Given the description of an element on the screen output the (x, y) to click on. 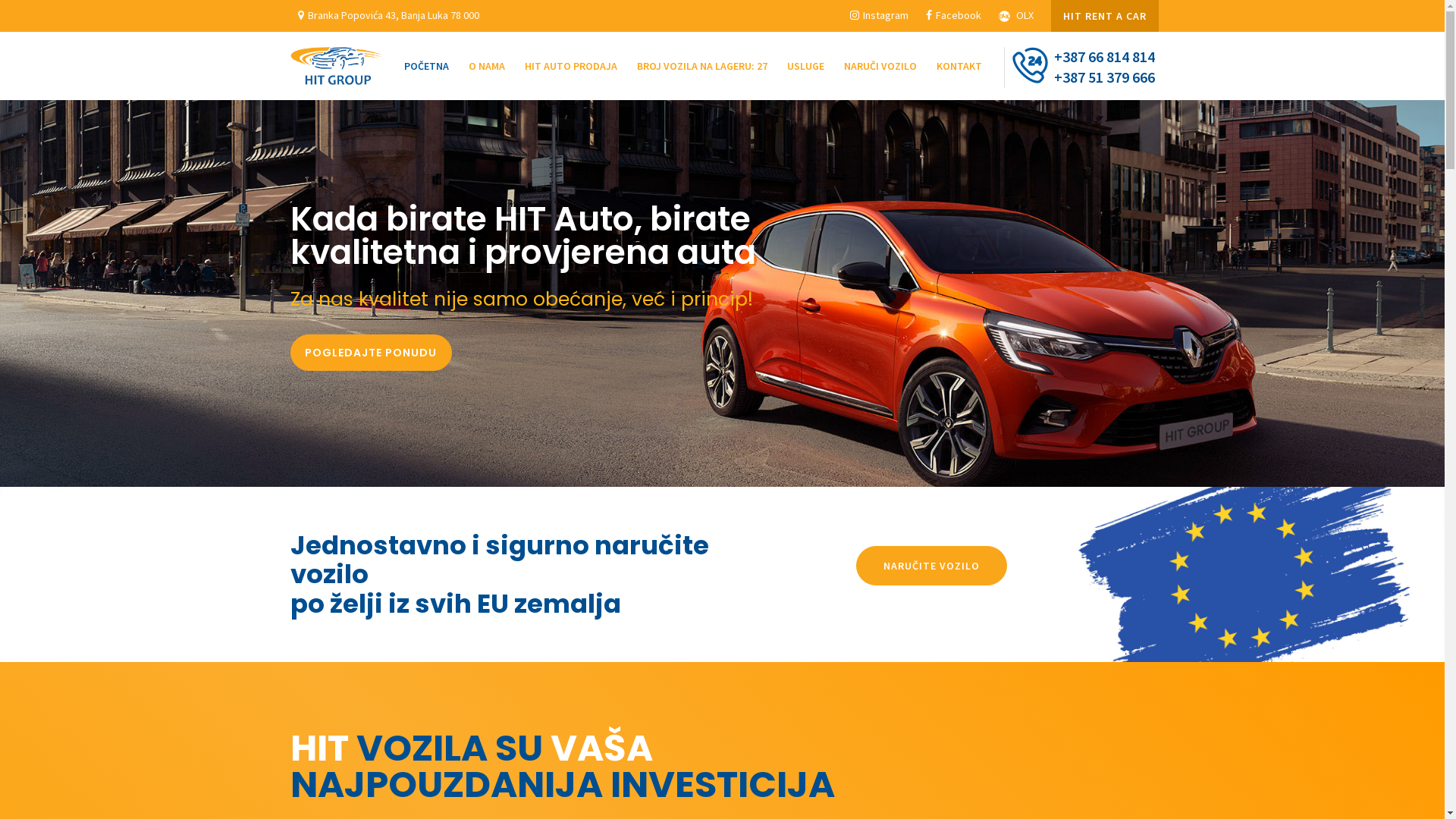
OLX Element type: text (1014, 14)
+387 66 814 814
+387 51 379 666 Element type: text (1079, 67)
Instagram Element type: text (878, 14)
USLUGE Element type: text (805, 65)
Facebook Element type: text (952, 14)
HIT AUTO PRODAJA Element type: text (570, 65)
HIT RENT A CAR Element type: text (1104, 15)
POGLEDAJTE PONUDU Element type: text (370, 352)
KONTAKT Element type: text (954, 65)
BROJ VOZILA NA LAGERU: 27 Element type: text (702, 65)
O NAMA Element type: text (486, 65)
